Given the description of an element on the screen output the (x, y) to click on. 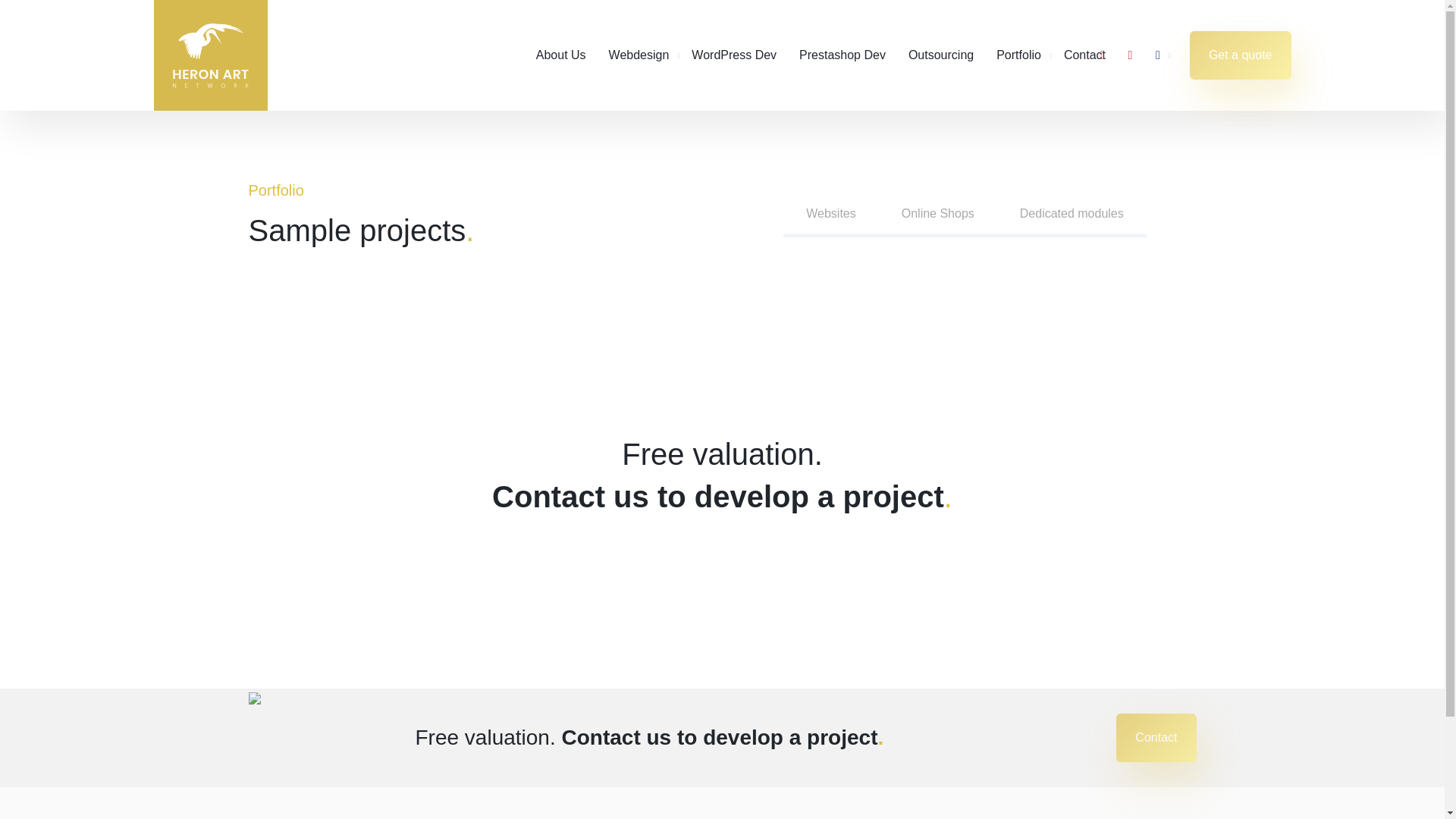
Dedicated modules (1072, 215)
About Us (560, 55)
Websites (831, 215)
Online Shops (938, 215)
Contact (1084, 55)
Prestashop Dev (842, 55)
Get a quote (1240, 55)
WordPress Dev (733, 55)
Contact (1155, 737)
Outsourcing (941, 55)
Webdesign (638, 55)
Portfolio (1018, 55)
